Given the description of an element on the screen output the (x, y) to click on. 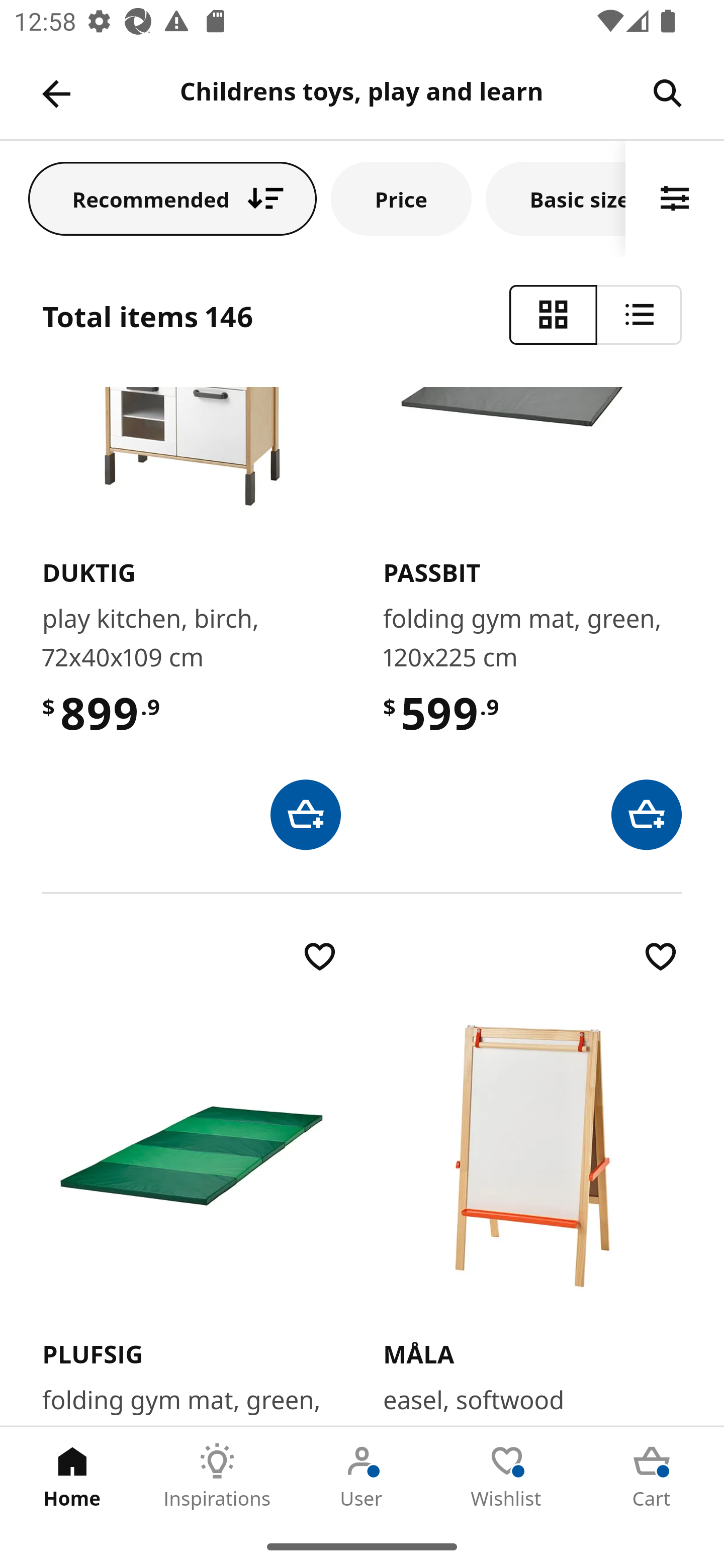
Recommended (172, 198)
Price (400, 198)
Basic sizes (555, 198)
​M​Å​L​A​
easel, softwood
$
249
.9 (532, 1180)
Home
Tab 1 of 5 (72, 1476)
Inspirations
Tab 2 of 5 (216, 1476)
User
Tab 3 of 5 (361, 1476)
Wishlist
Tab 4 of 5 (506, 1476)
